Given the description of an element on the screen output the (x, y) to click on. 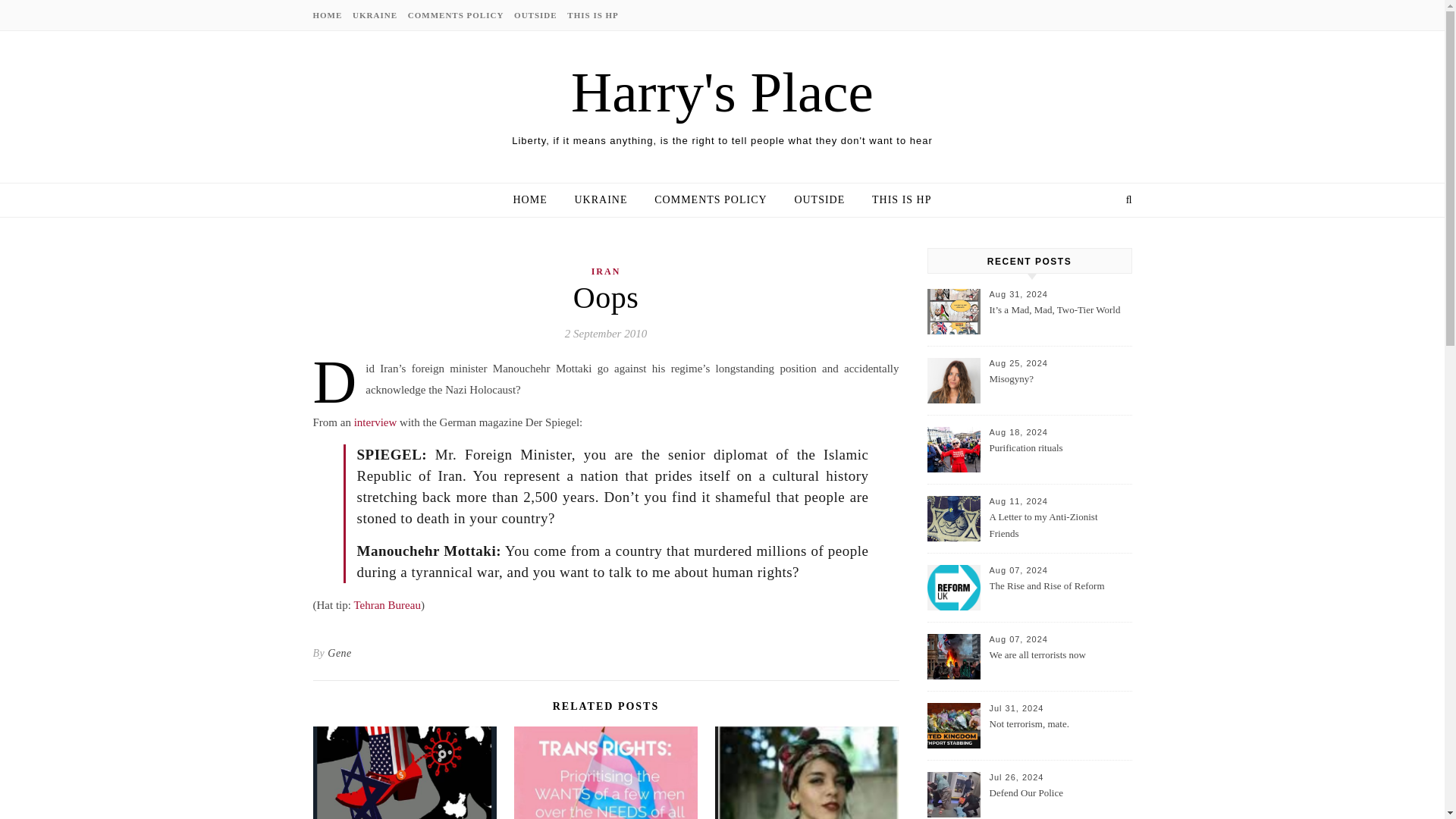
THIS IS HP (895, 200)
Not terrorism, mate. (1058, 733)
The Rise and Rise of Reform (1058, 595)
Harry's Place (721, 91)
COMMENTS POLICY (456, 15)
Misogyny? (1058, 388)
A Letter to my Anti-Zionist Friends (1058, 525)
Purification rituals (1058, 457)
IRAN (606, 271)
OUTSIDE (535, 15)
